Given the description of an element on the screen output the (x, y) to click on. 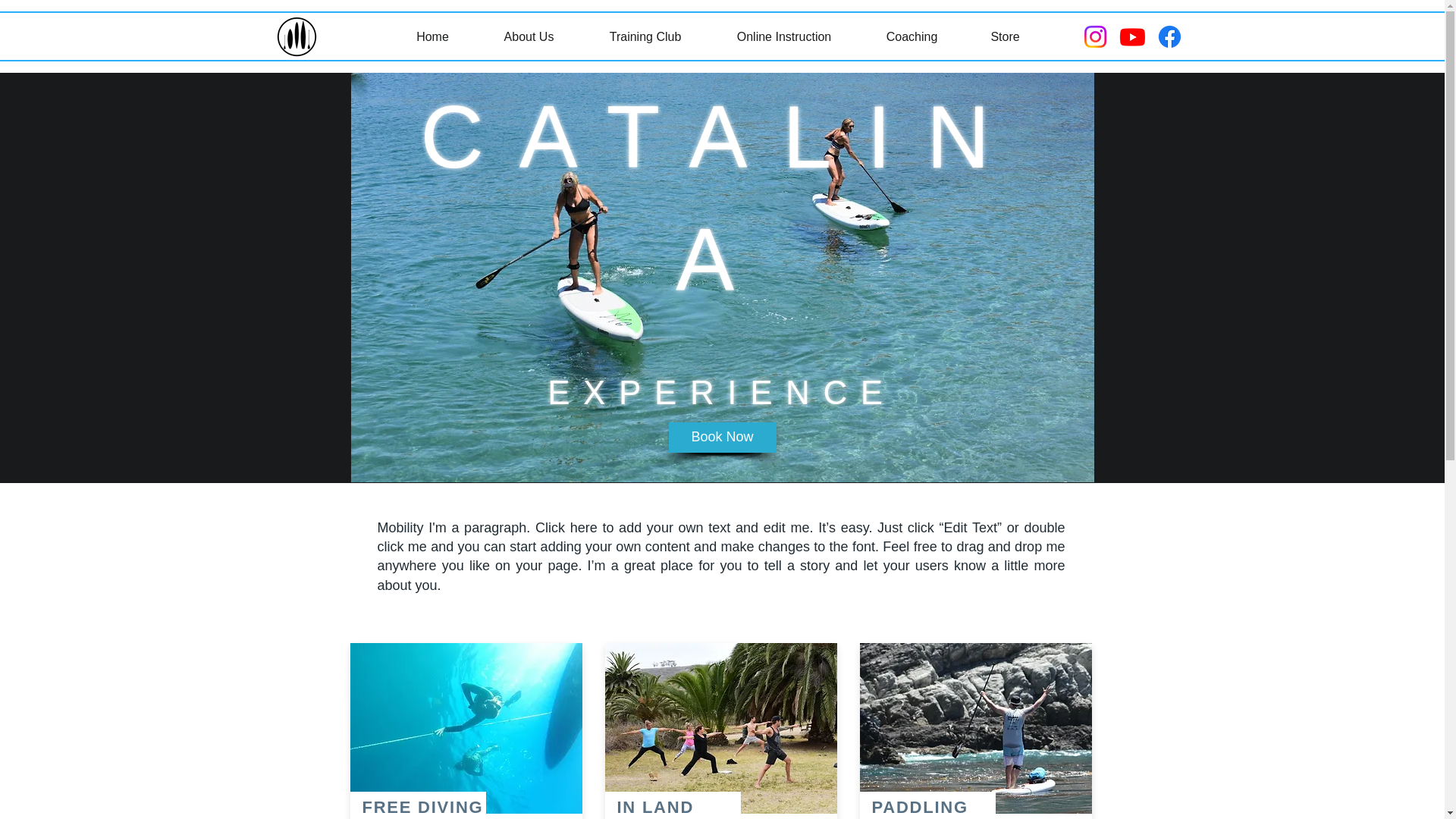
Home (433, 36)
Online Instruction (783, 36)
Coaching (911, 36)
About Us (529, 36)
Training Club (645, 36)
Store (1004, 36)
